Given the description of an element on the screen output the (x, y) to click on. 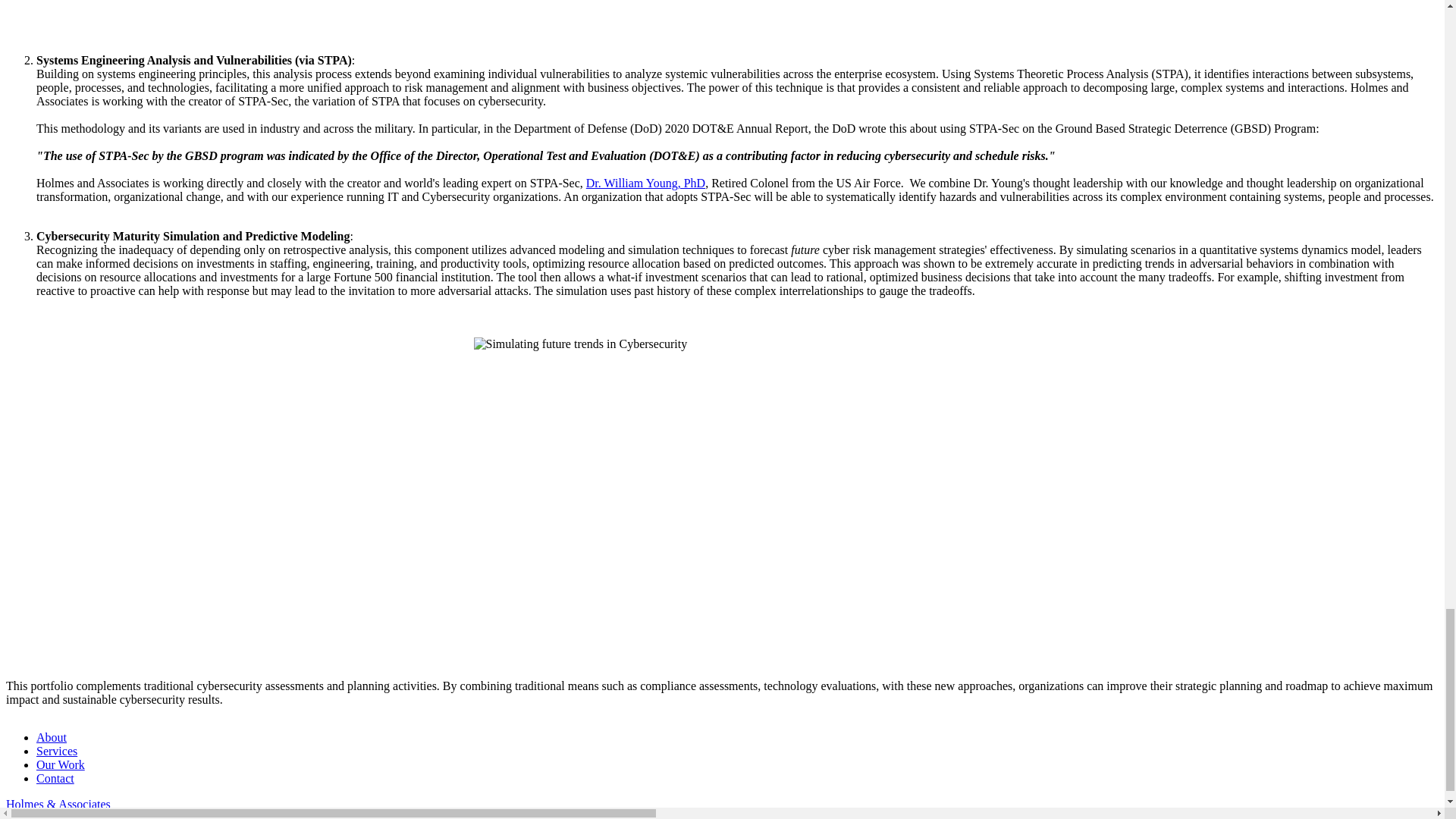
Services (56, 750)
Dr. William Young, PhD (645, 182)
Contact (55, 778)
Our Work (60, 764)
Home (57, 803)
About (51, 737)
